Given the description of an element on the screen output the (x, y) to click on. 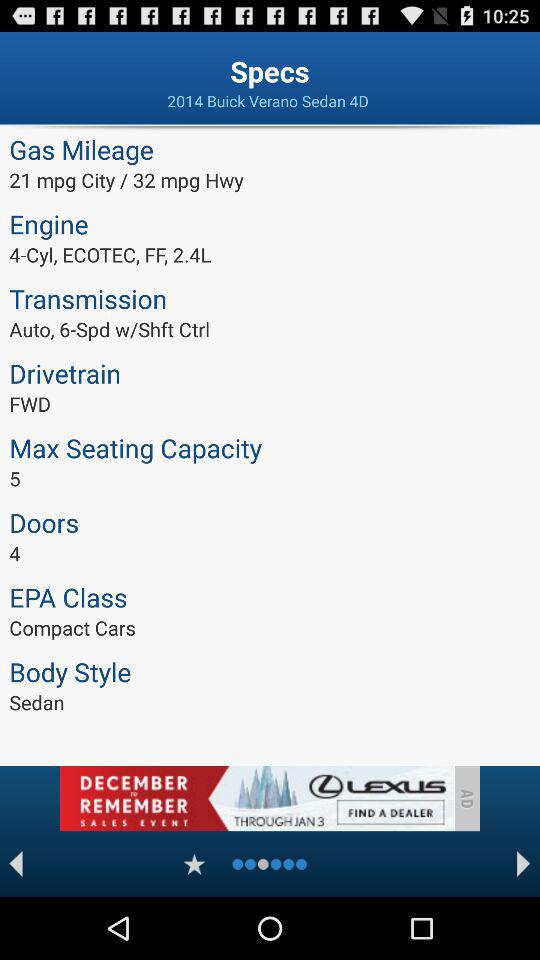
rate (194, 864)
